Given the description of an element on the screen output the (x, y) to click on. 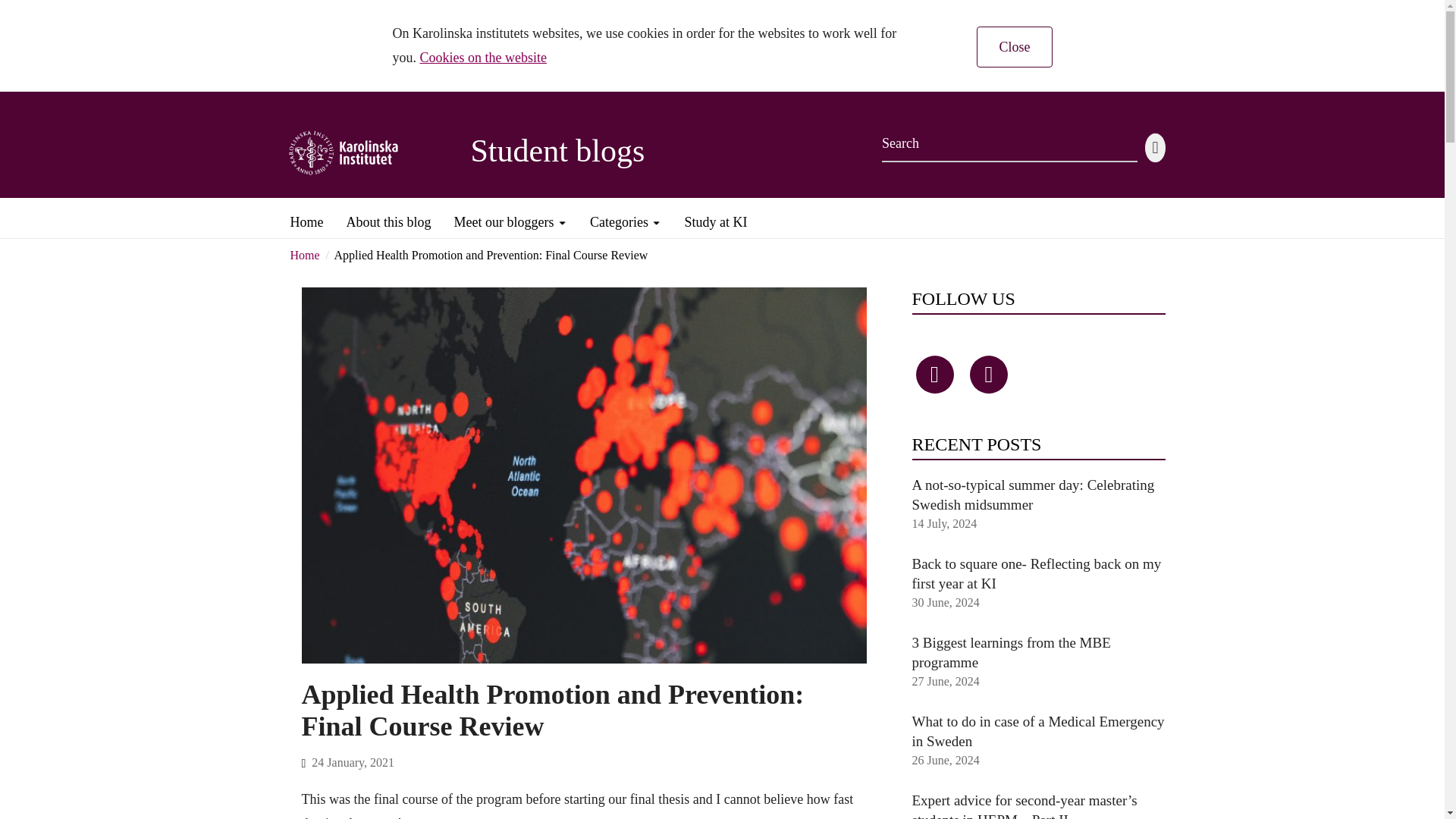
Accept cookies (1013, 46)
Study at KI (715, 216)
Meet our bloggers (510, 216)
Categories (625, 216)
Performing search (1155, 147)
Close (1013, 46)
About this blog (388, 216)
Home (306, 216)
Home (303, 254)
Cookies on the website (483, 57)
